Given the description of an element on the screen output the (x, y) to click on. 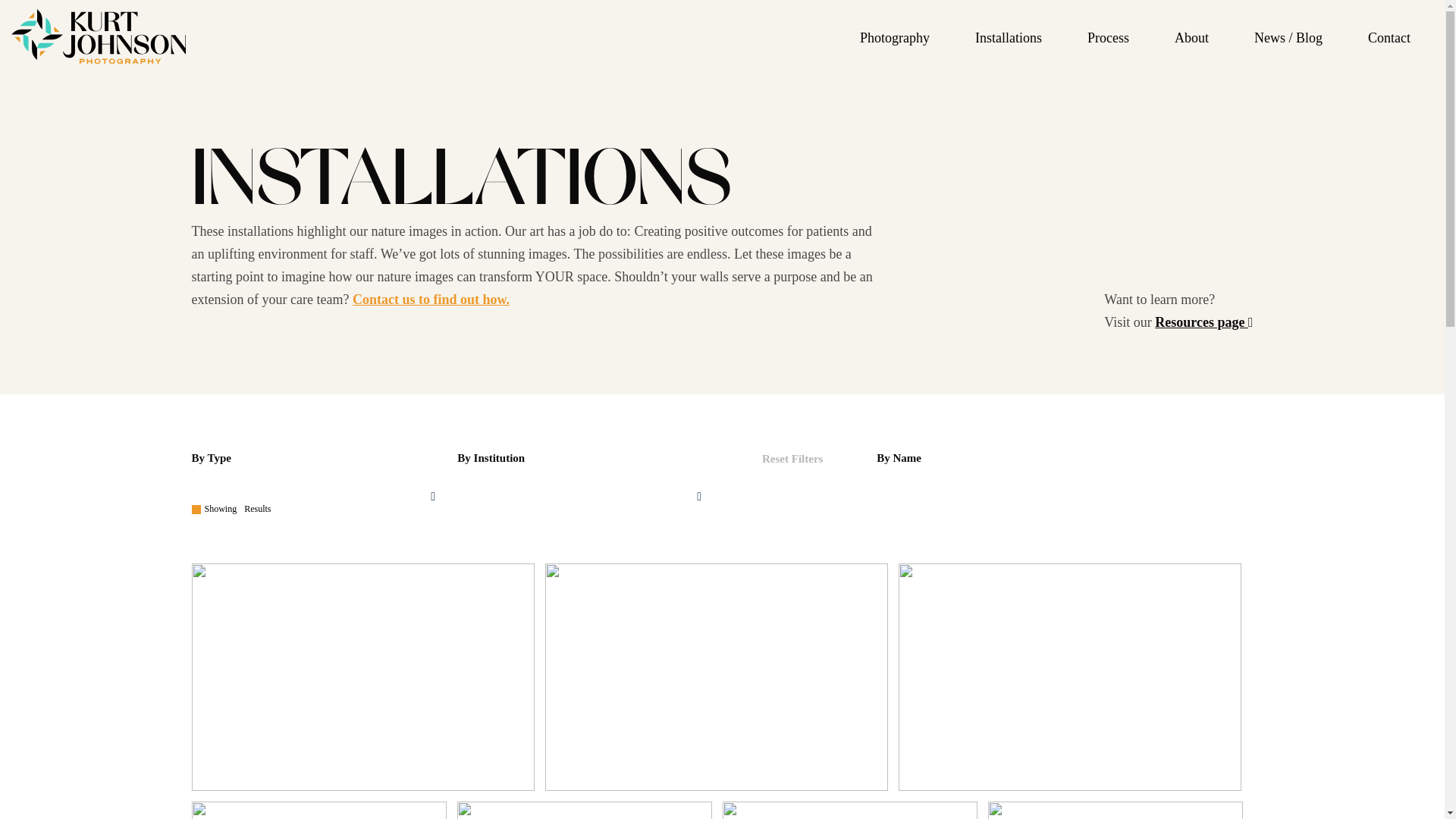
Reset Filters (792, 458)
Contact (1389, 37)
Resources page (1203, 322)
Photography (895, 37)
Contact us to find out how. (430, 299)
Process (1108, 37)
About (1191, 37)
Installations (1008, 37)
